Given the description of an element on the screen output the (x, y) to click on. 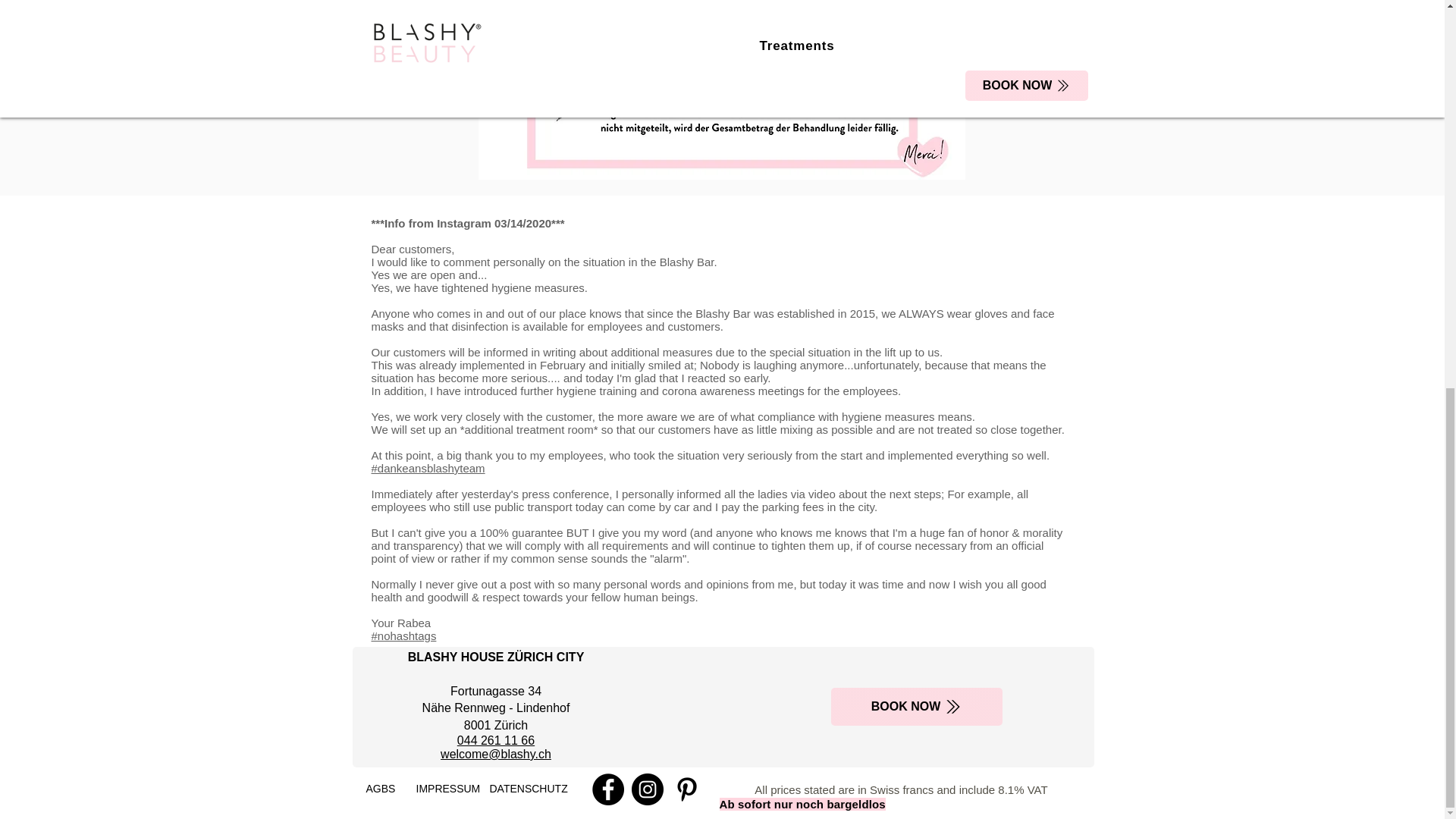
DATENSCHUTZ (528, 788)
044 261 11 66 (495, 739)
AGBS (379, 788)
BOOK NOW (917, 706)
IMPRESSUM (447, 788)
